Given the description of an element on the screen output the (x, y) to click on. 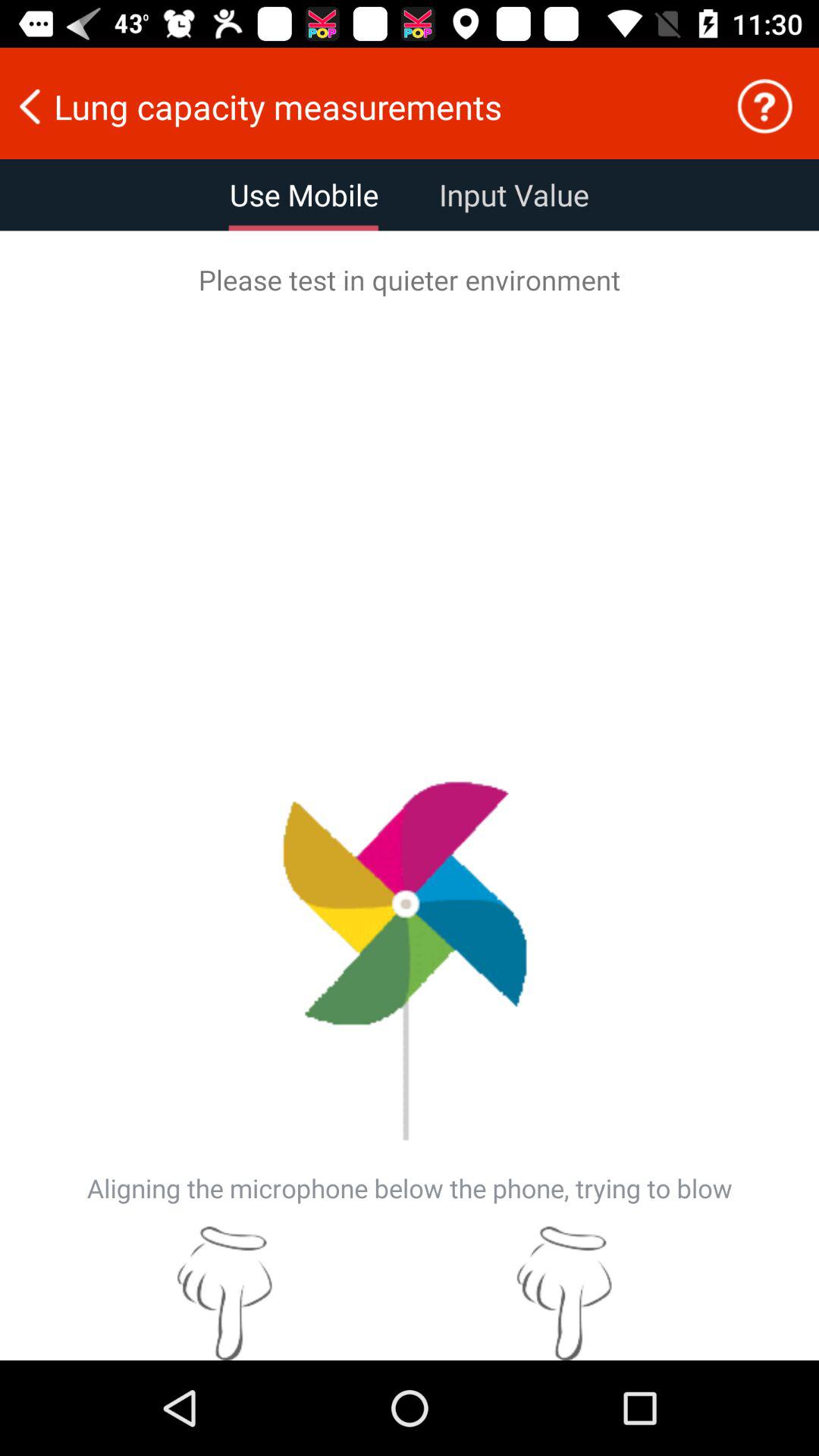
click icon above please test in icon (764, 106)
